Given the description of an element on the screen output the (x, y) to click on. 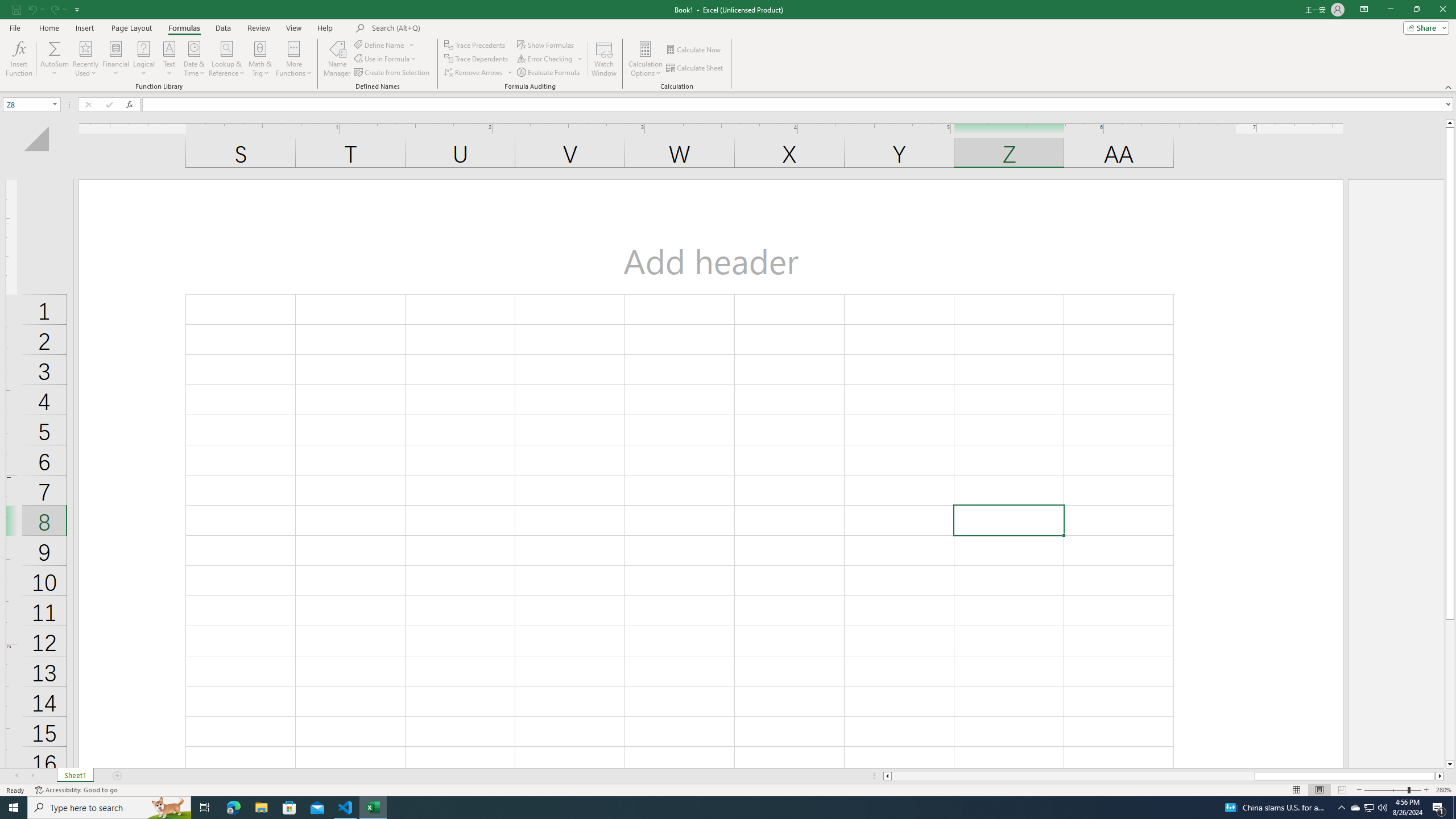
Name Manager (336, 58)
Create from Selection... (392, 72)
Calculation Options (645, 58)
Evaluate Formula (549, 72)
